Given the description of an element on the screen output the (x, y) to click on. 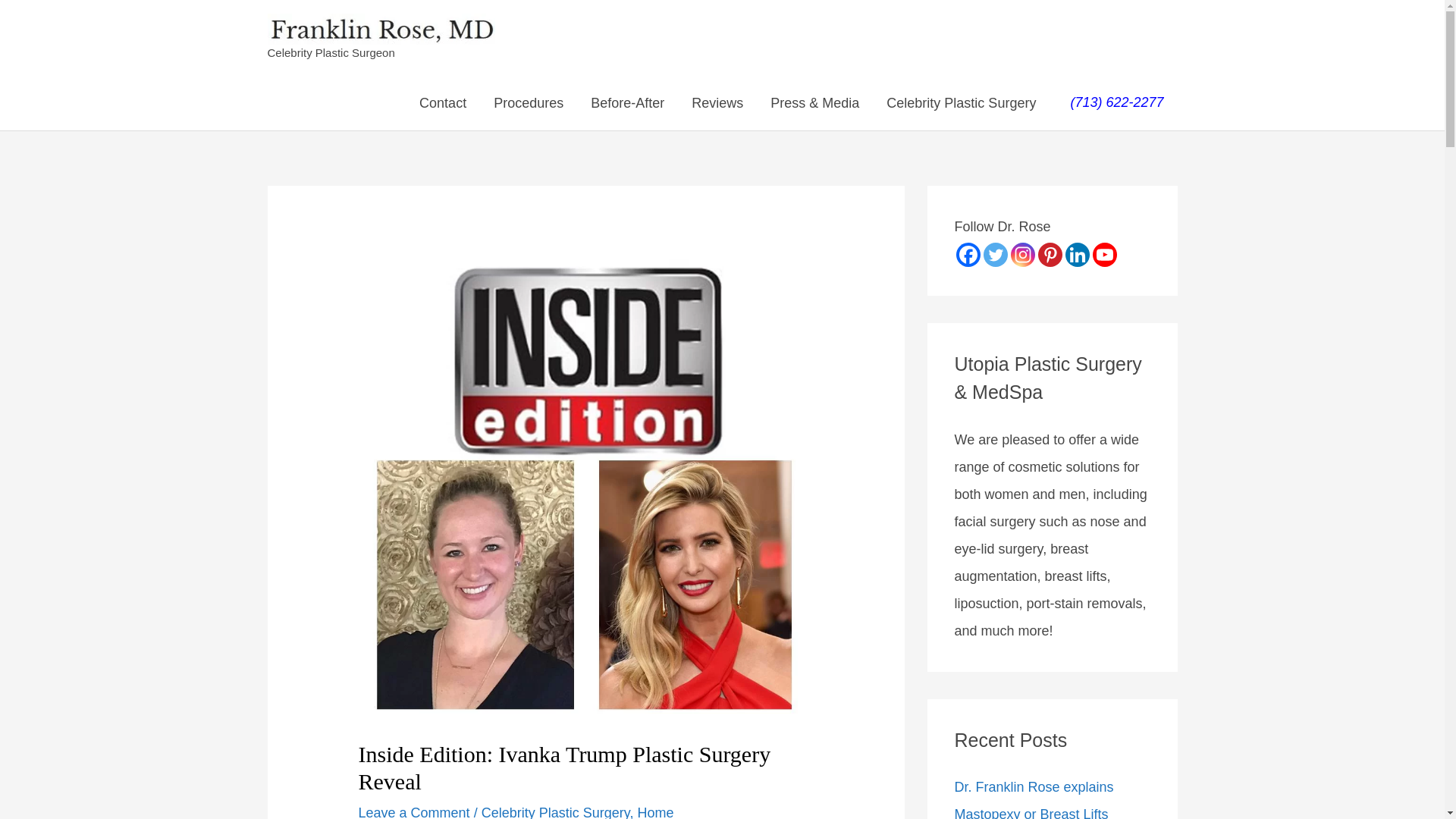
Celebrity Plastic Surgery (960, 103)
Contact (443, 103)
Reviews (717, 103)
Procedures (528, 103)
Celebrity Plastic Surgery (555, 812)
Contact Dr. Franklin Rose (443, 103)
Leave a Comment (414, 812)
Home (654, 812)
Cosmetic Surgery Procedures (528, 103)
Dr. Franklin Rose Reviews (717, 103)
Dr. Franklin Rose in the Media (814, 103)
Before-After (627, 103)
